Given the description of an element on the screen output the (x, y) to click on. 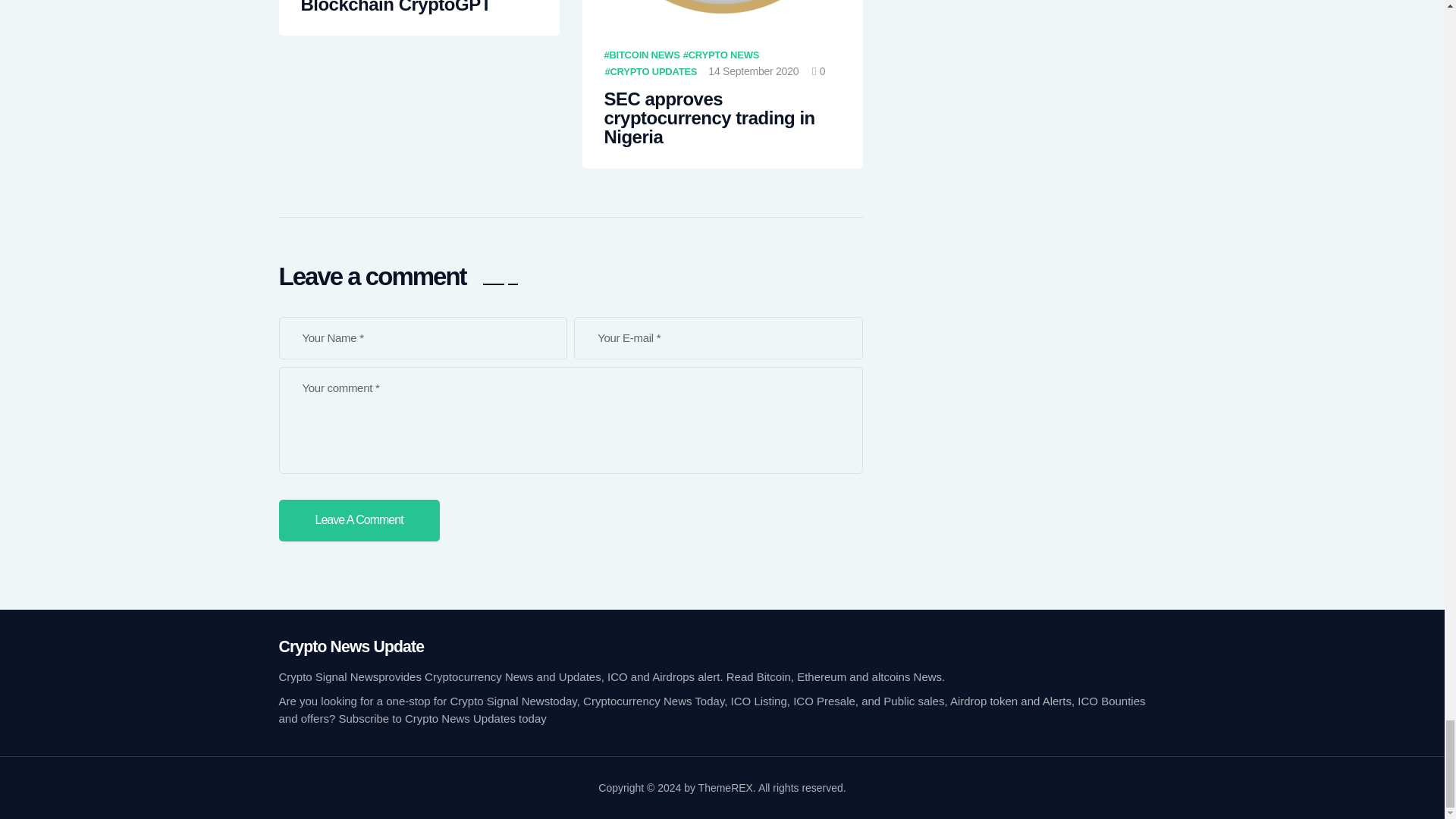
Leave a comment (359, 520)
